Given the description of an element on the screen output the (x, y) to click on. 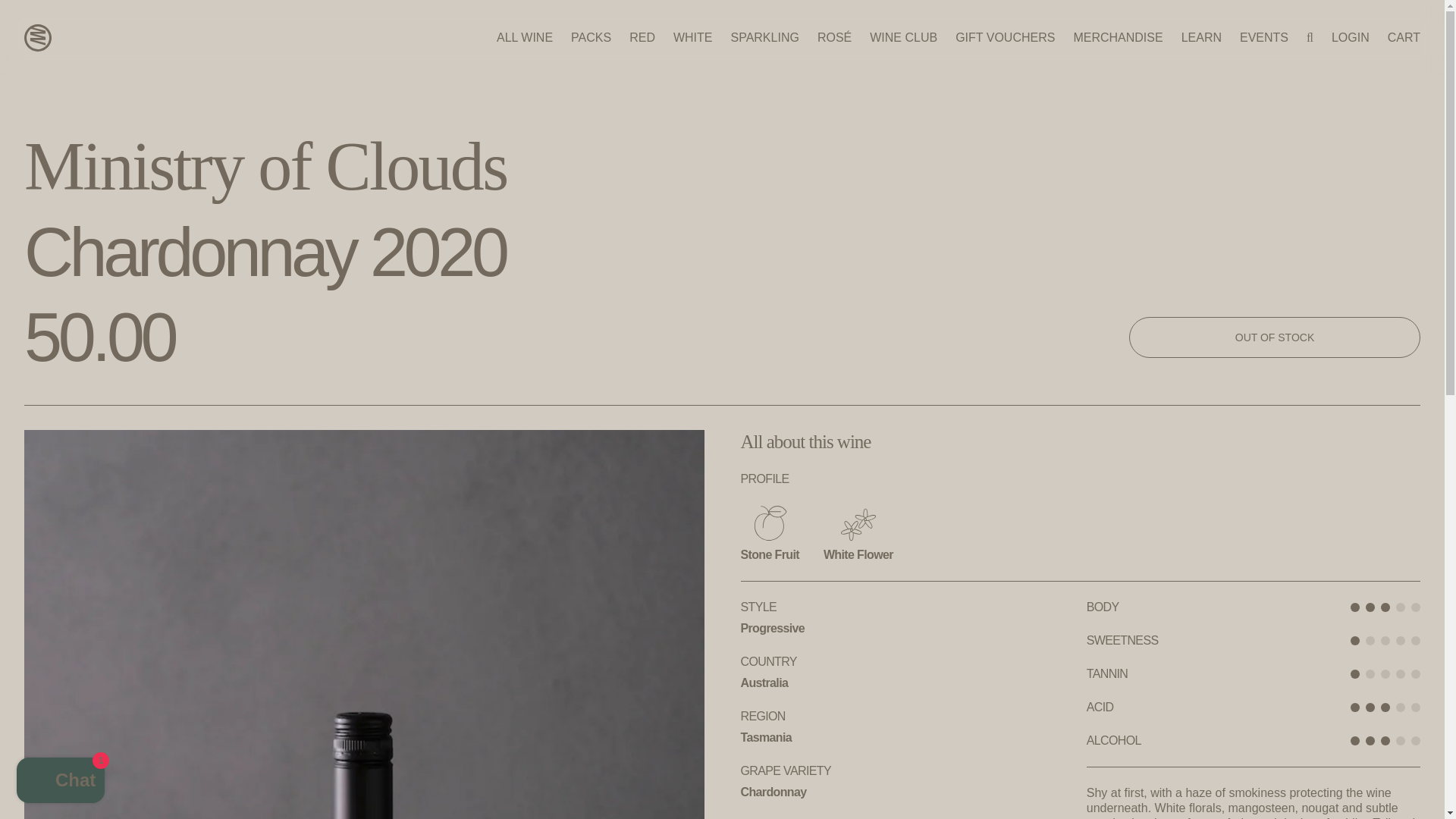
MERCHANDISE (1117, 37)
Shopify online store chat (60, 781)
WHITE (692, 37)
PACKS (590, 37)
EVENTS (1264, 37)
SPARKLING (763, 37)
WINE CLUB (903, 37)
LOGIN (1351, 37)
LEARN (1200, 37)
GIFT VOUCHERS (1004, 37)
RED (641, 37)
ALL WINE (524, 37)
